Given the description of an element on the screen output the (x, y) to click on. 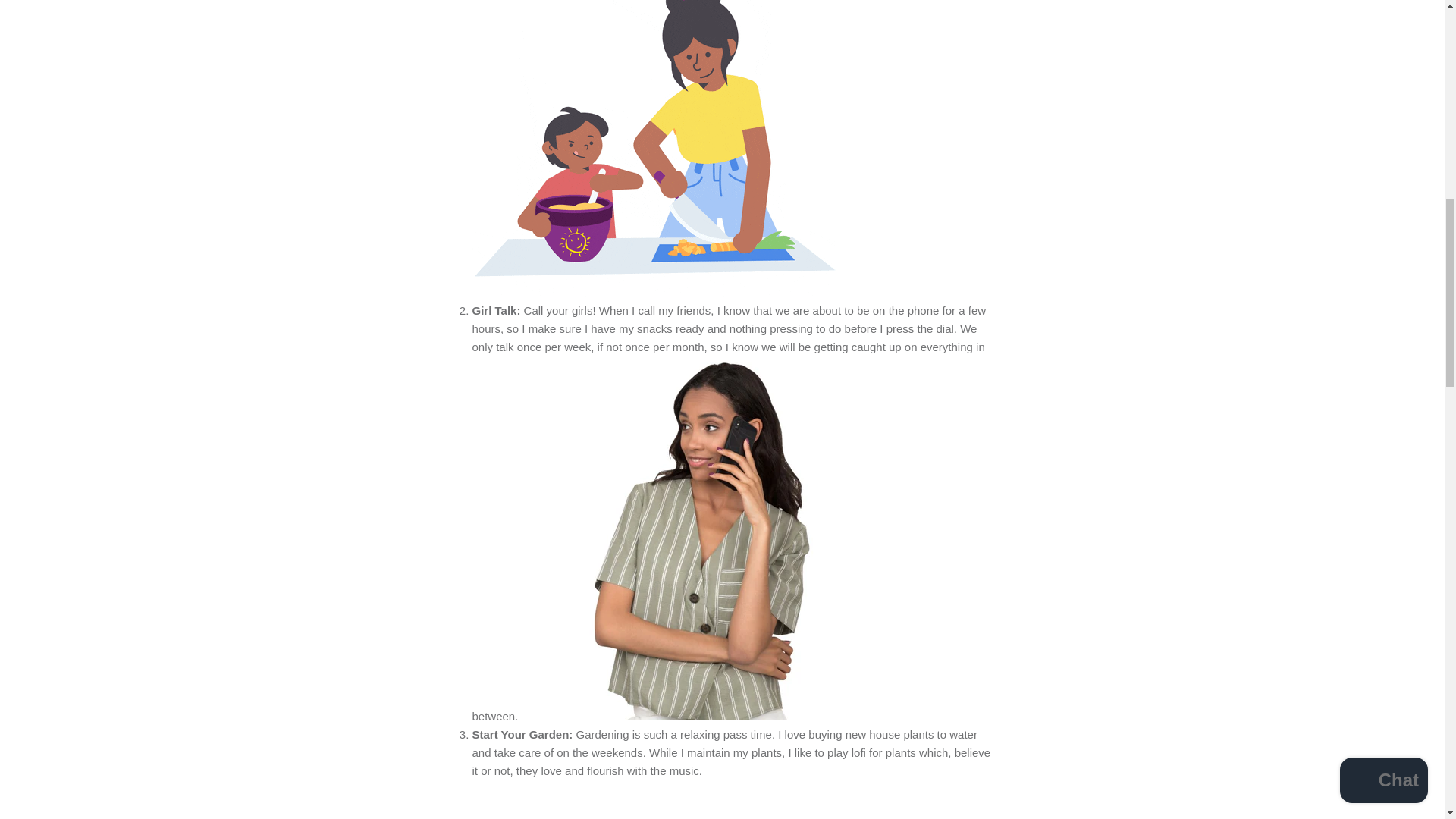
YouTube video player (683, 799)
